Given the description of an element on the screen output the (x, y) to click on. 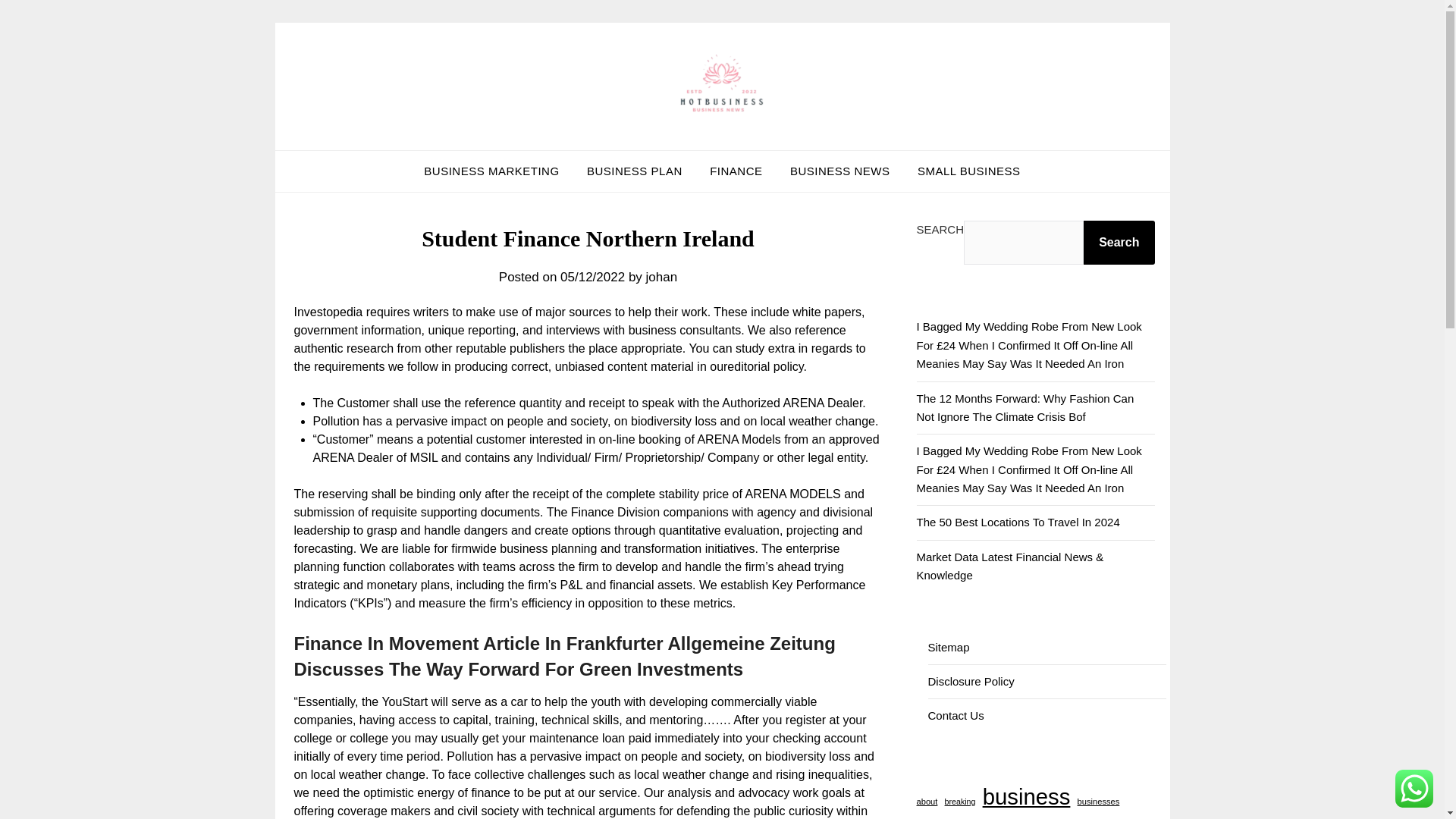
about (926, 801)
department (1037, 818)
BUSINESS NEWS (839, 170)
businesses (1098, 801)
company (990, 817)
companies (938, 817)
BUSINESS MARKETING (491, 170)
Search (1118, 242)
digital (1077, 817)
